Given the description of an element on the screen output the (x, y) to click on. 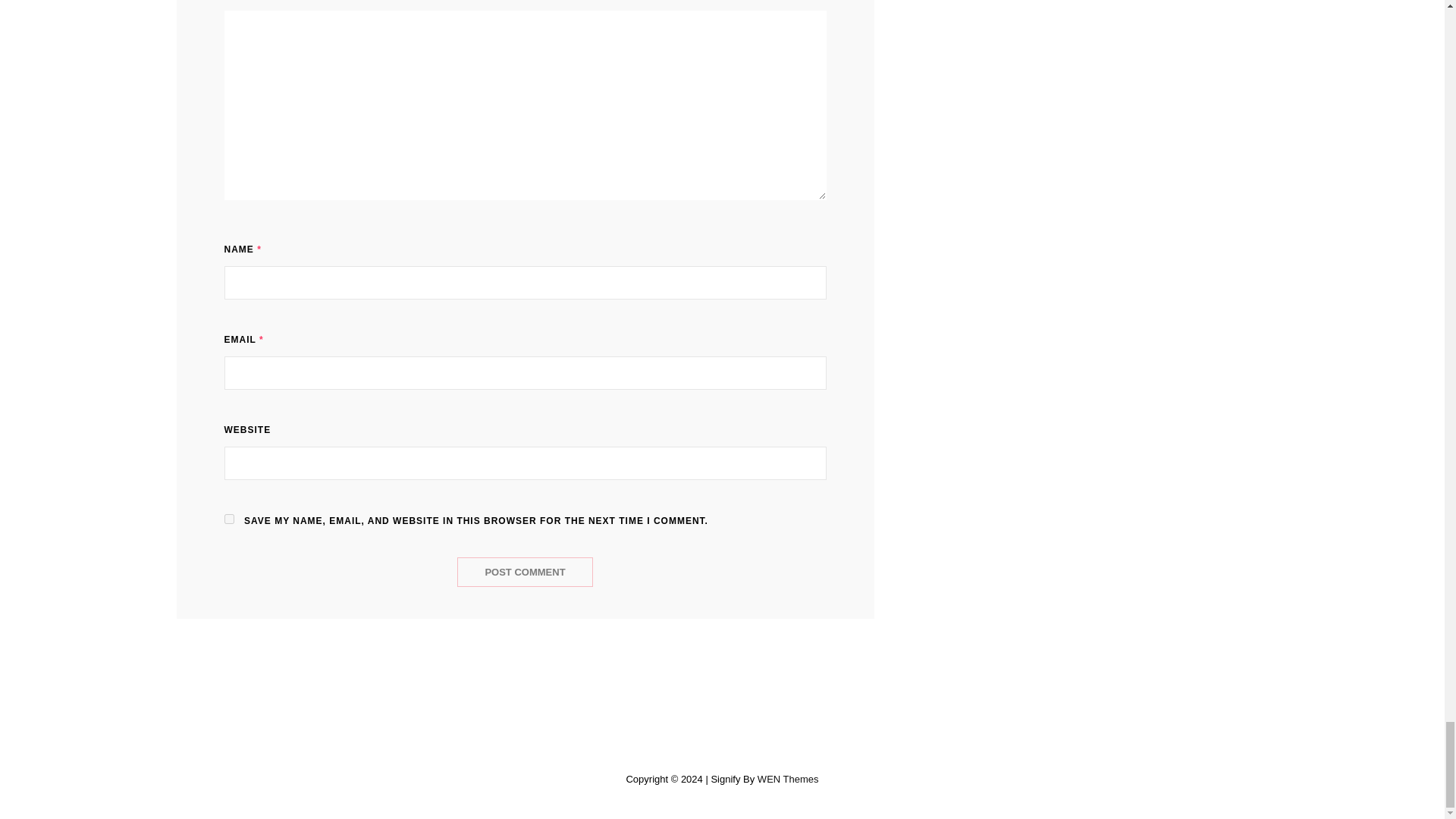
yes (229, 519)
Post Comment (524, 572)
Post Comment (524, 572)
